Given the description of an element on the screen output the (x, y) to click on. 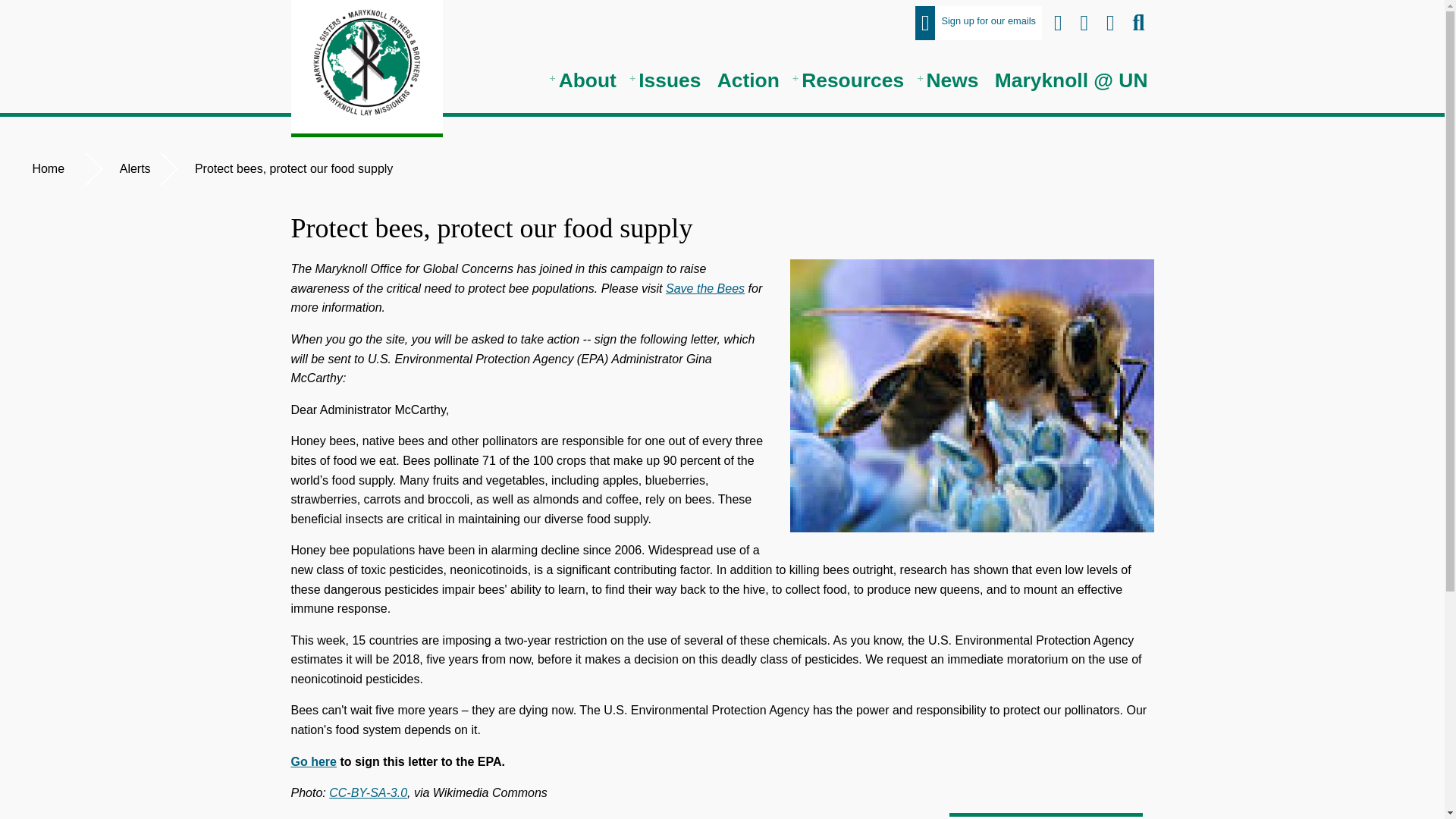
Save the Bees (704, 287)
Action (748, 80)
Resources (849, 80)
Maryknoll Office for Global Concerns homepage (366, 66)
CC-BY-SA-3.0 (368, 792)
Issues (666, 80)
Sign up for our emails (978, 22)
Go here (313, 761)
Home (46, 169)
News (949, 80)
About (585, 80)
